Given the description of an element on the screen output the (x, y) to click on. 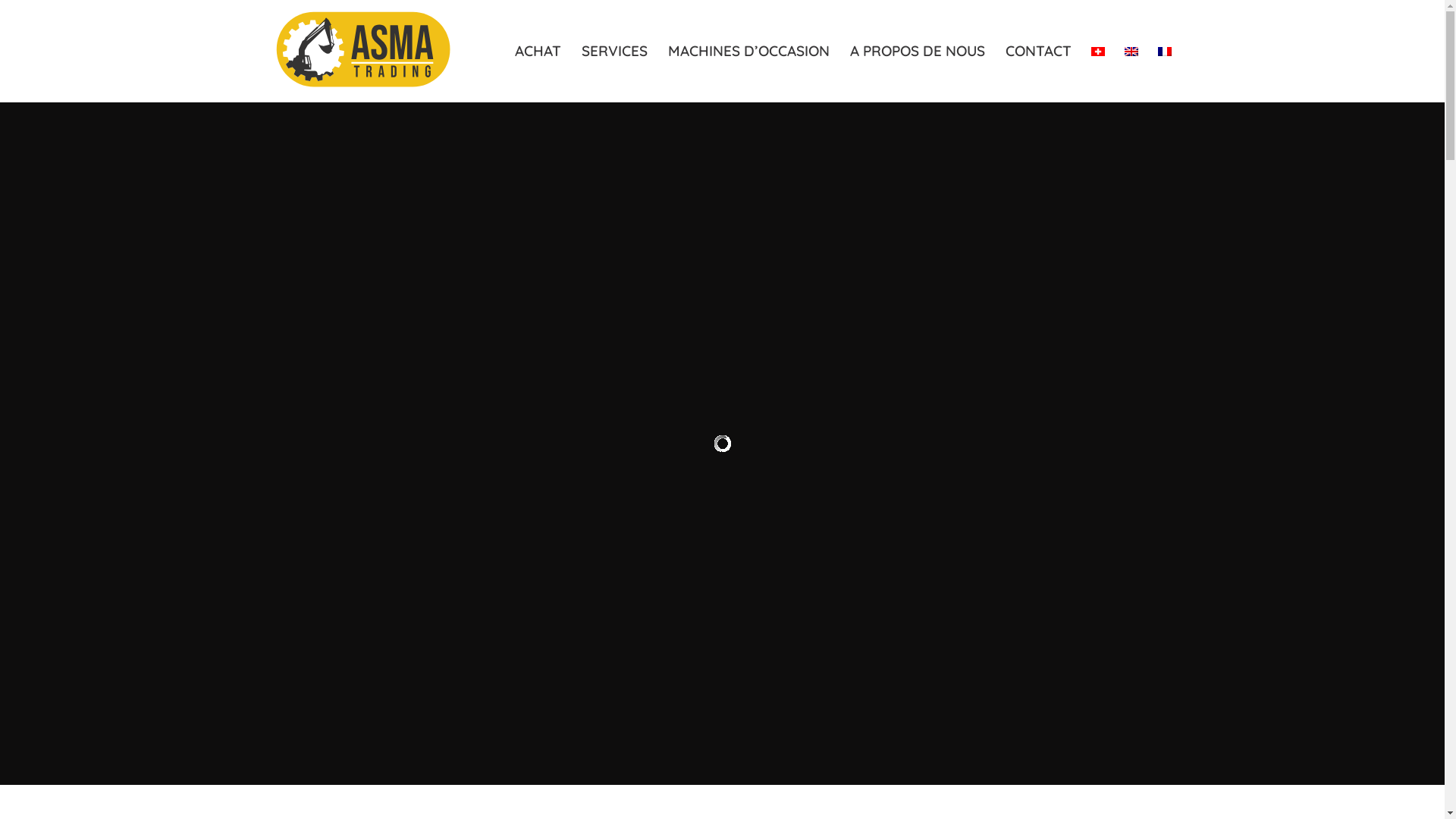
SERVICES Element type: text (613, 51)
ACHAT Element type: text (538, 51)
CONTACT Element type: text (1037, 51)
Deutsch Element type: hover (1097, 51)
English Element type: hover (1130, 51)
A PROPOS DE NOUS Element type: text (916, 51)
